Given the description of an element on the screen output the (x, y) to click on. 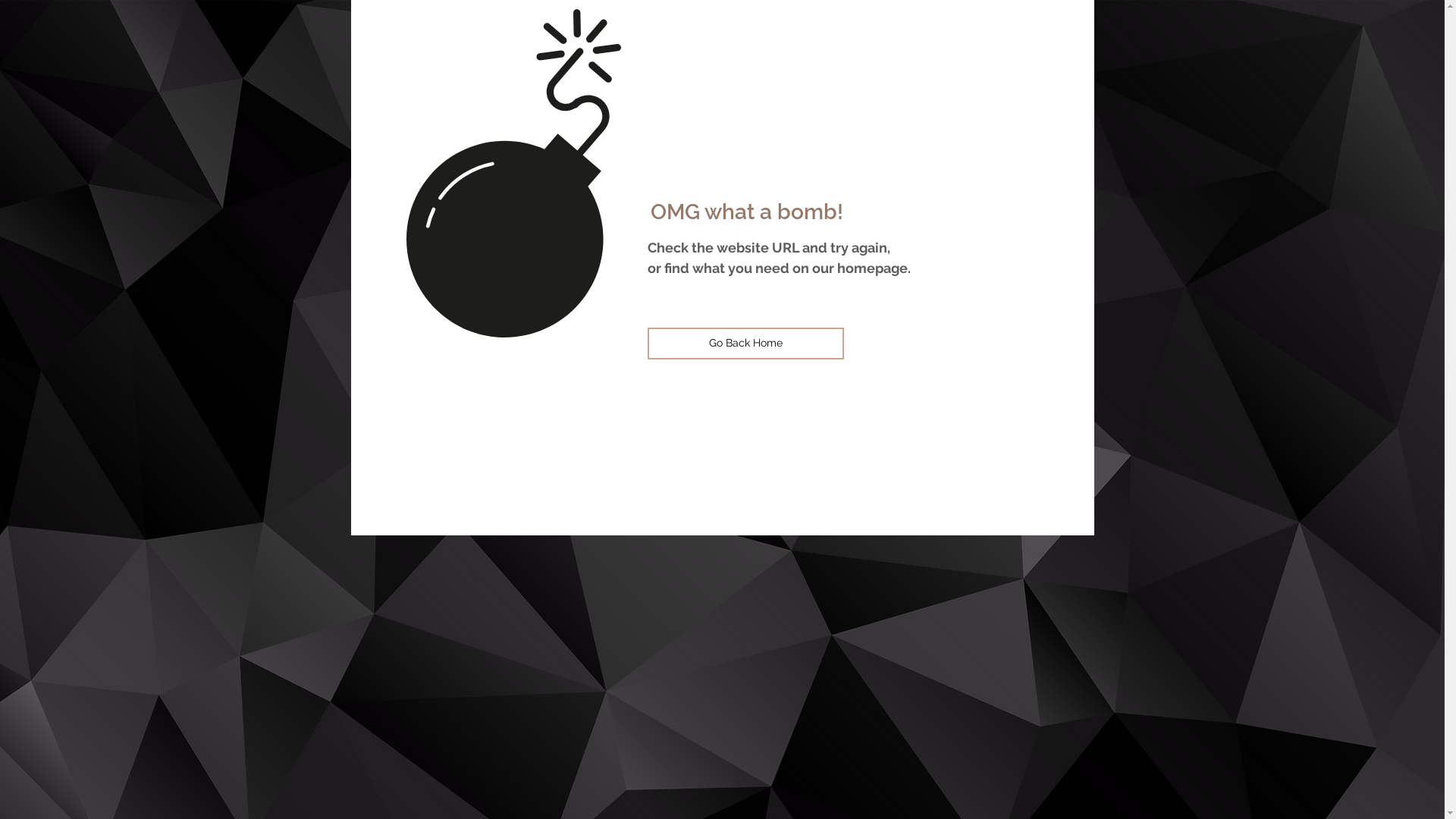
Go Back Home Element type: text (745, 343)
